Given the description of an element on the screen output the (x, y) to click on. 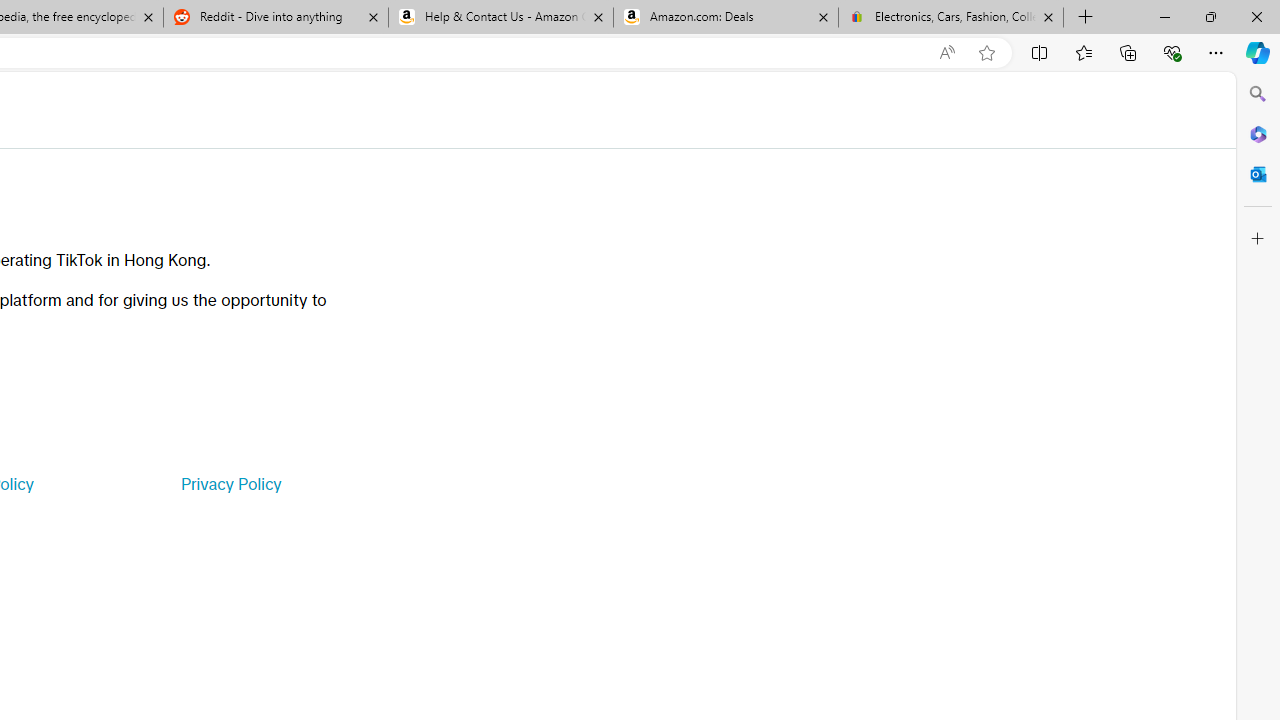
Help & Contact Us - Amazon Customer Service (501, 17)
